Given the description of an element on the screen output the (x, y) to click on. 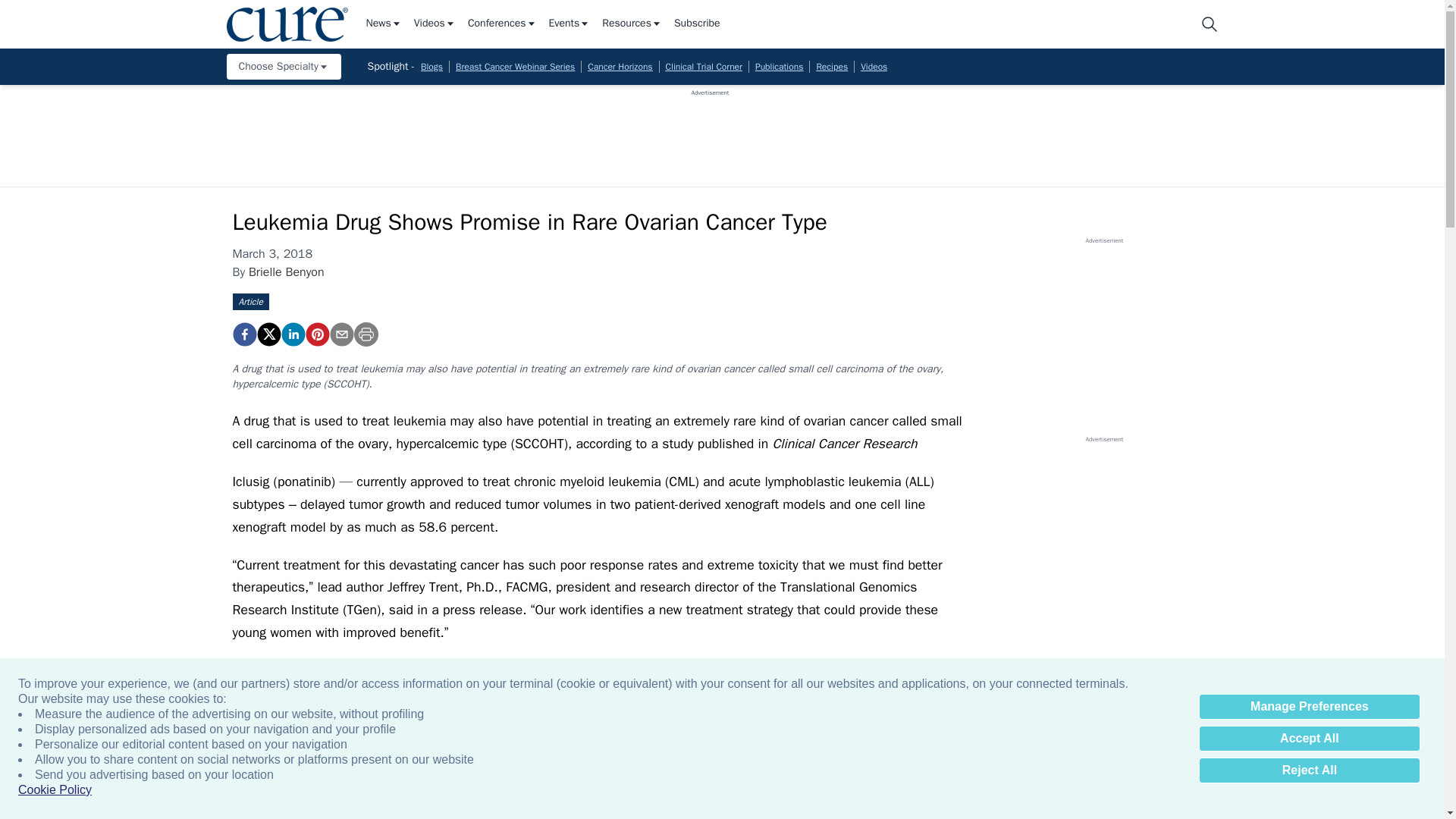
News (383, 23)
Accept All (1309, 738)
3rd party ad content (709, 131)
Cookie Policy (54, 789)
Leukemia Drug Shows Promise in Rare Ovarian Cancer Type (243, 334)
Videos (434, 23)
Leukemia Drug Shows Promise in Rare Ovarian Cancer Type (316, 334)
Conferences (502, 23)
Reject All (1309, 769)
Manage Preferences (1309, 706)
Events (569, 23)
